Given the description of an element on the screen output the (x, y) to click on. 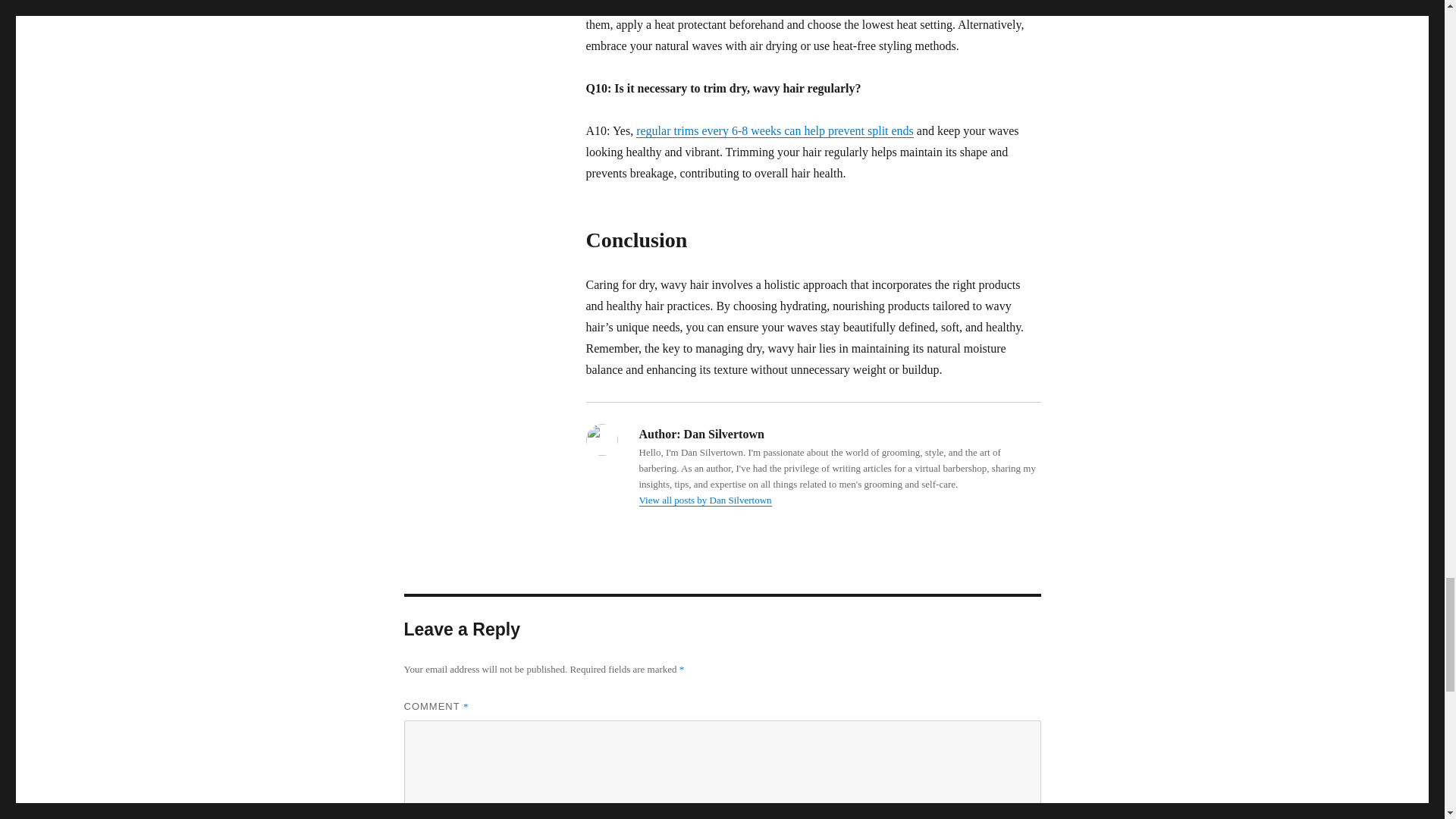
View all posts by Dan Silvertown (705, 500)
regular trims every 6-8 weeks can help prevent split ends (775, 130)
